Given the description of an element on the screen output the (x, y) to click on. 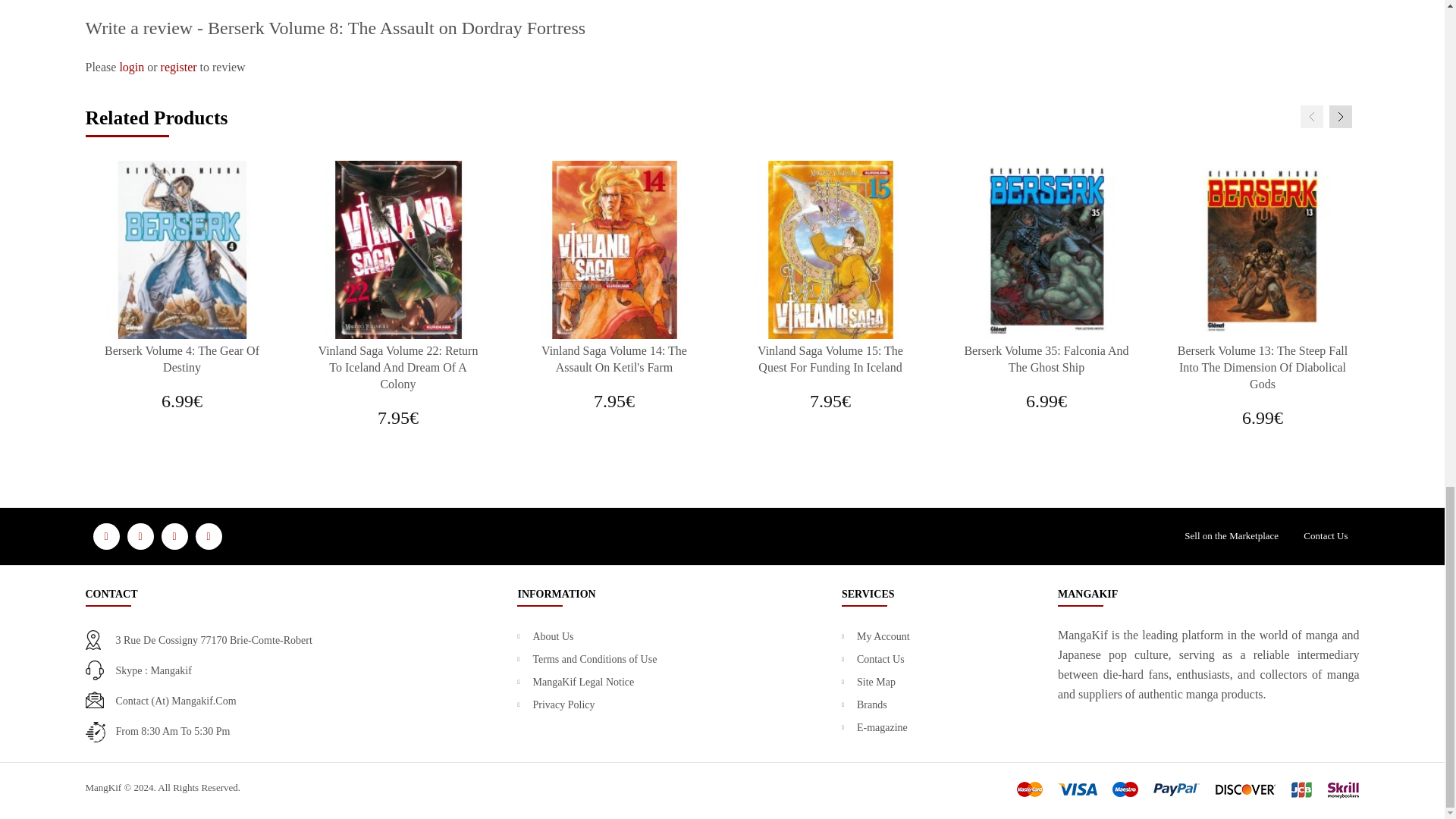
Berserk Volume 4: The Gear of Destiny (181, 249)
Vinland Saga Volume 15: The Quest for Funding in Iceland (830, 249)
Berserk Volume 35: Falconia and the Ghost Ship (1045, 249)
Vinland Saga Volume 14: The Assault on Ketil's Farm (613, 249)
